Given the description of an element on the screen output the (x, y) to click on. 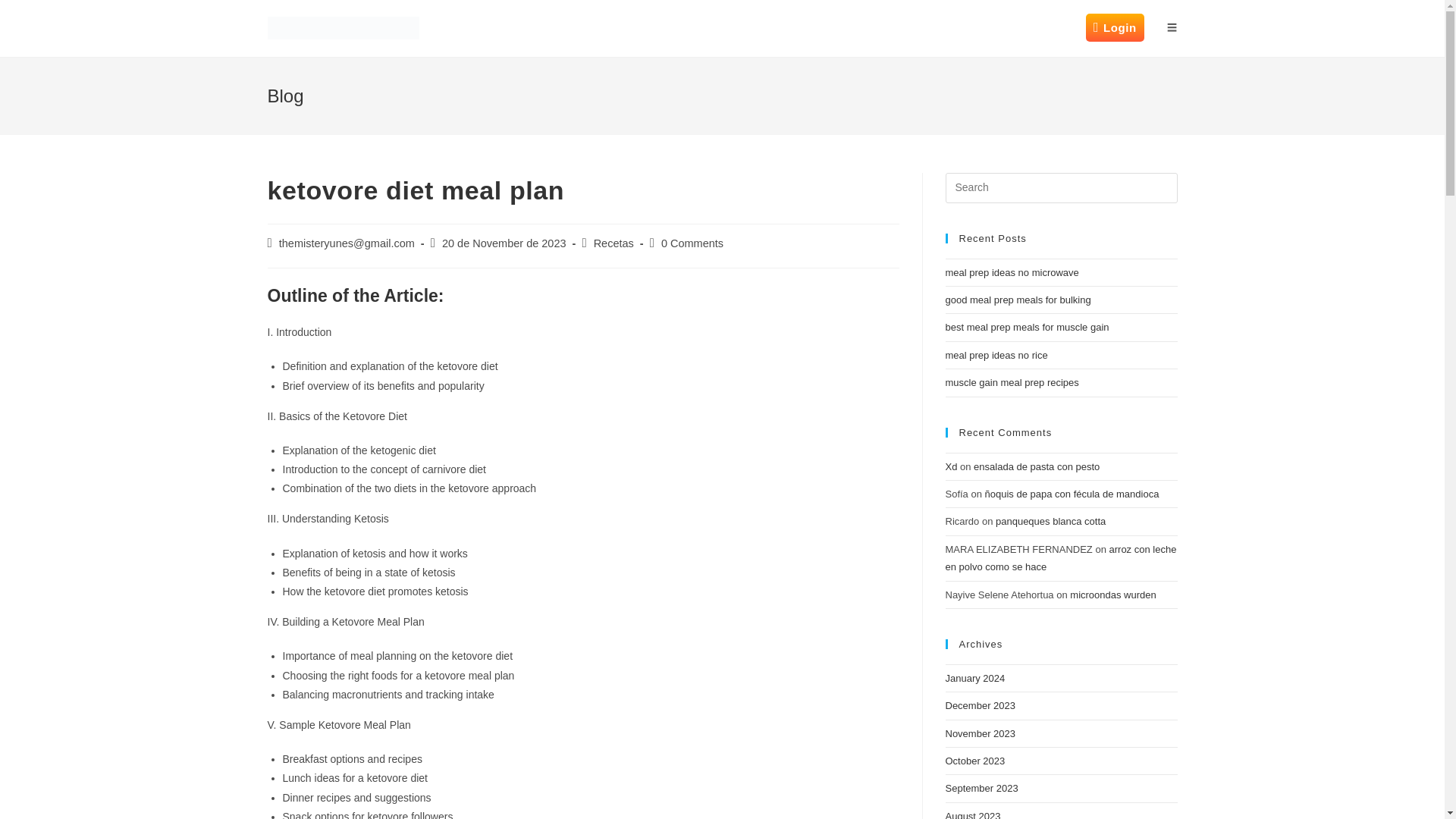
ensalada de pasta con pesto (1036, 466)
Login (1115, 28)
panqueques blanca cotta (1050, 521)
0 Comments (692, 243)
August 2023 (972, 814)
Recetas (613, 243)
meal prep ideas no rice (995, 355)
November 2023 (979, 733)
best meal prep meals for muscle gain (1026, 326)
meal prep ideas no microwave (1011, 272)
muscle gain meal prep recipes (1011, 382)
September 2023 (980, 787)
arroz con leche en polvo como se hace (1060, 557)
Xd (950, 466)
microondas wurden (1113, 593)
